Given the description of an element on the screen output the (x, y) to click on. 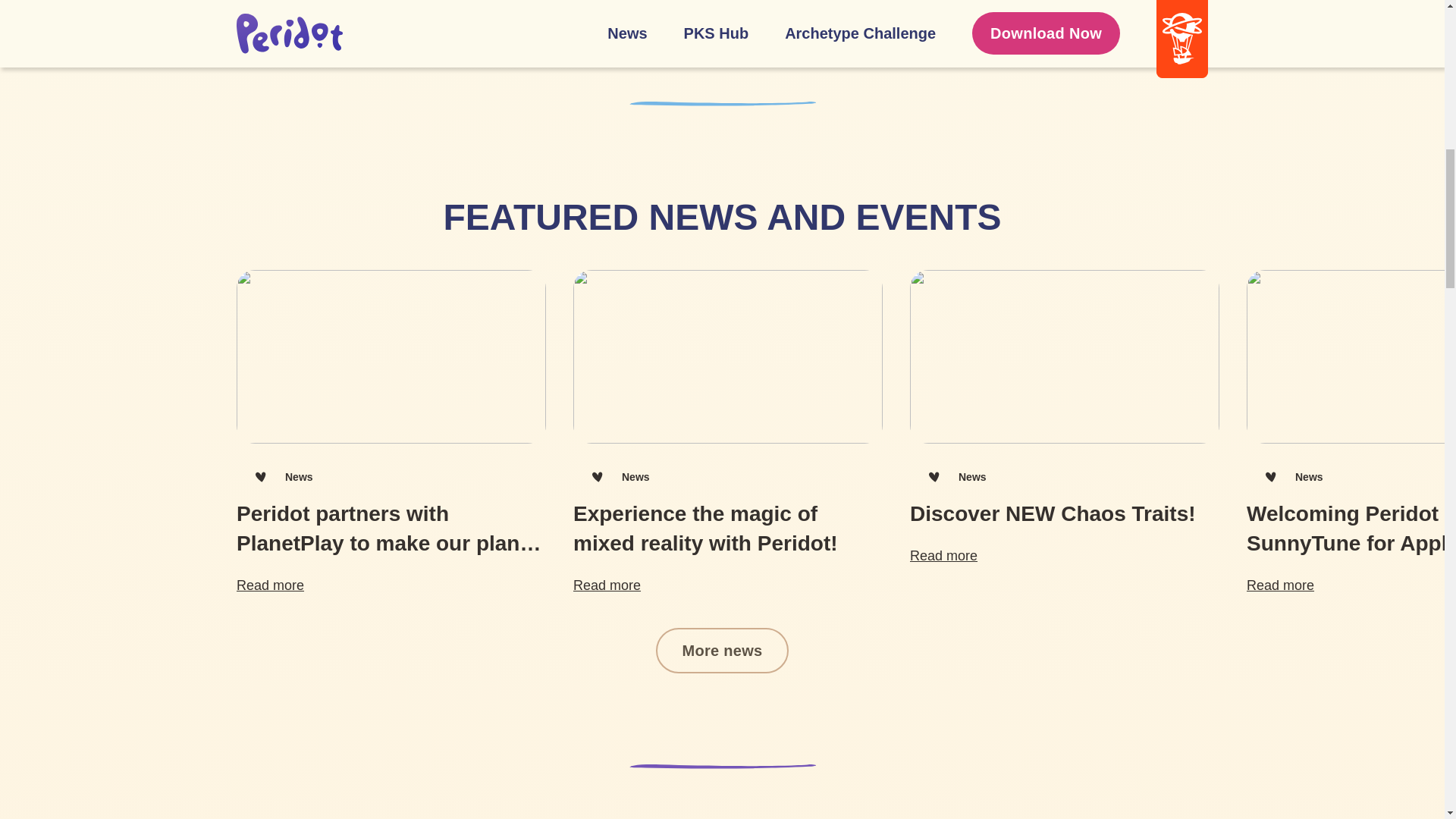
More news (721, 650)
